Given the description of an element on the screen output the (x, y) to click on. 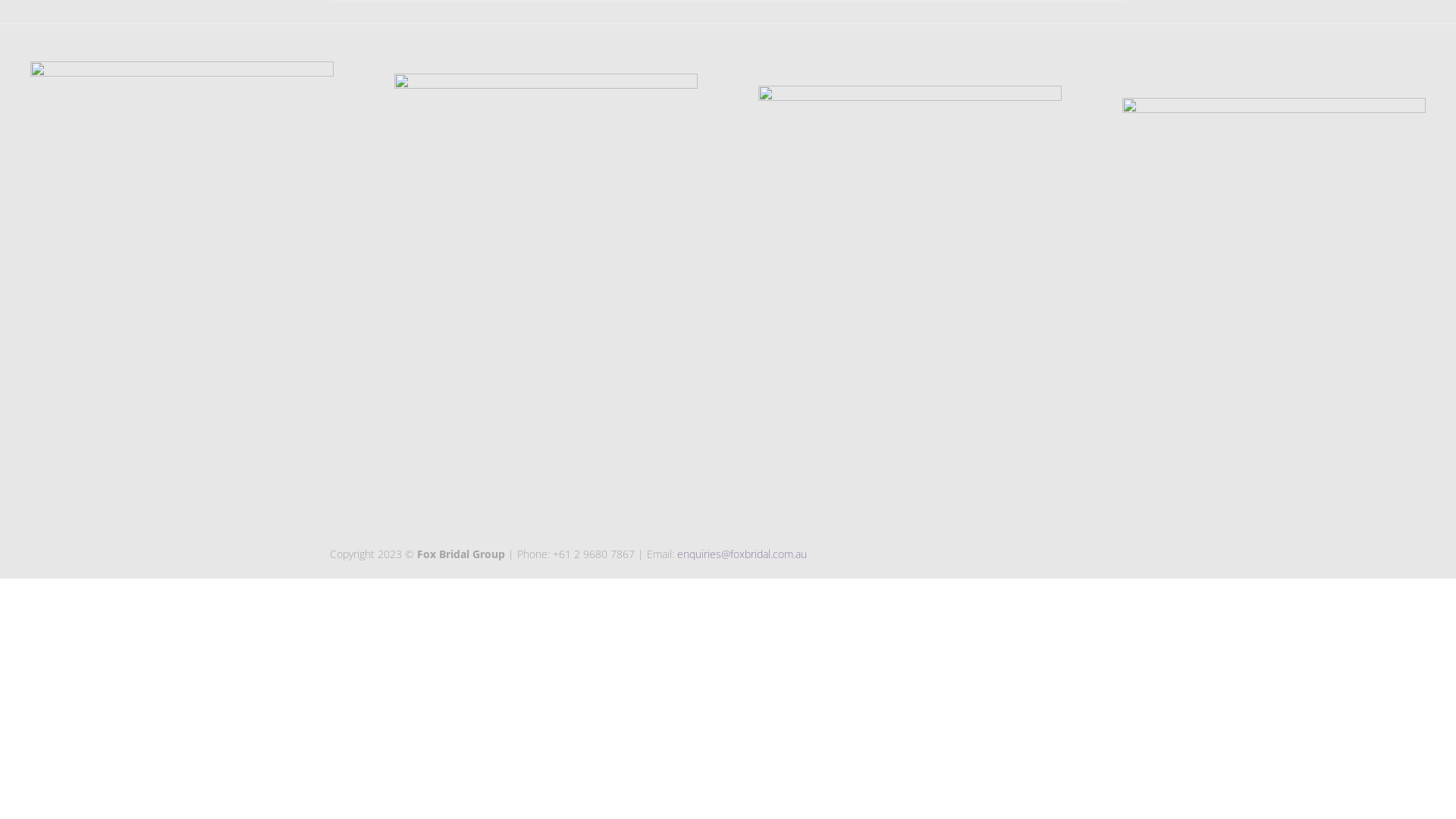
SYLVIA ROSE FORMAL & EVENING  Element type: hover (1273, 305)
PURPLE FOX BRIDE  Element type: hover (181, 269)
Fox Bridal - Trusted by brides since 1932 Element type: hover (727, 45)
enquiries@foxbridal.com.au Element type: text (741, 553)
JEAN FOX Element type: hover (545, 281)
GILDED ROSE BRIDE Element type: hover (909, 293)
